Given the description of an element on the screen output the (x, y) to click on. 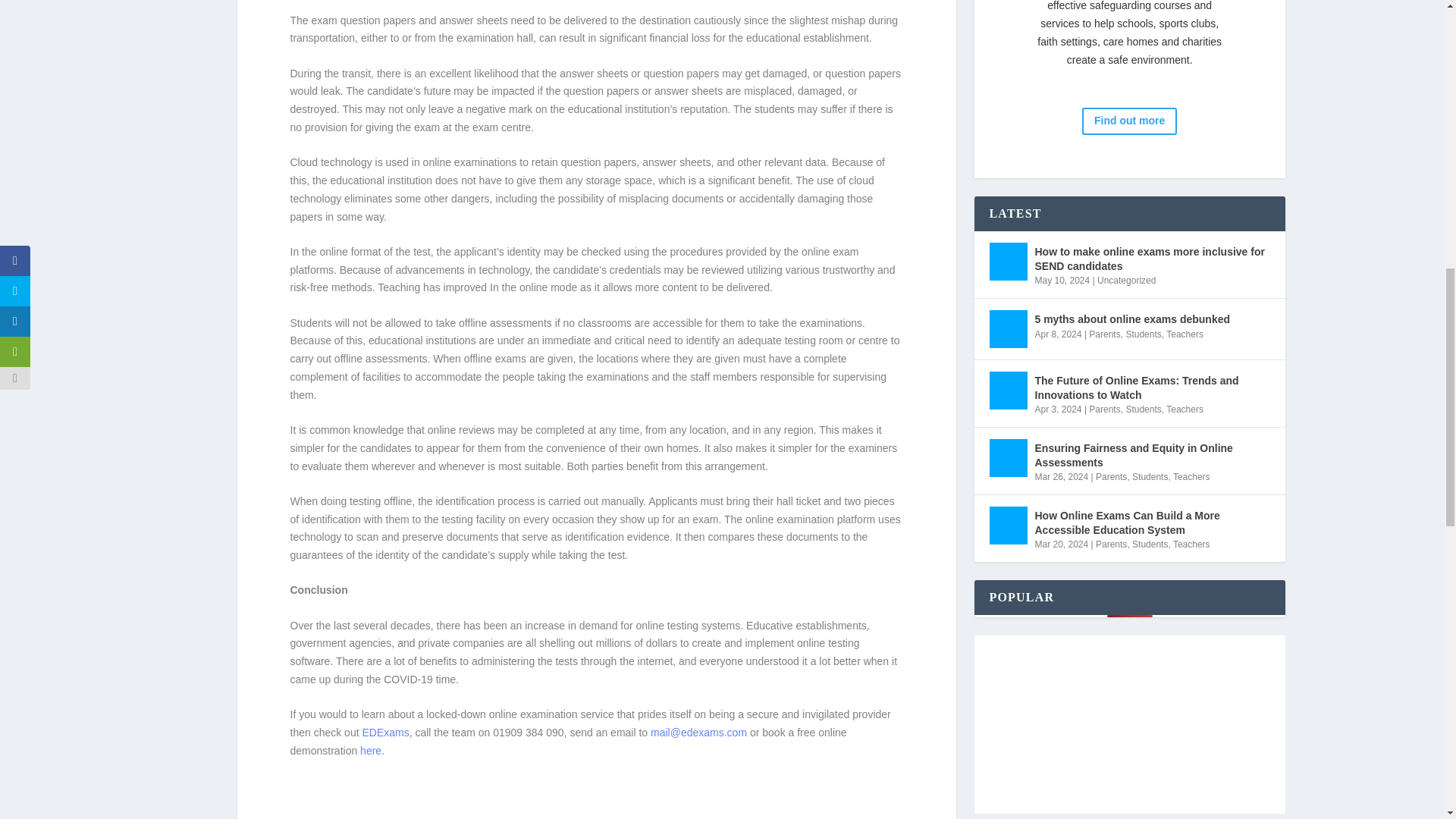
here (370, 750)
Parents (1104, 334)
How to make online exams more inclusive for SEND candidates (1007, 261)
Ensuring Fairness and Equity in Online Assessments (1007, 457)
Students (1142, 334)
5 myths about online exams debunked (1007, 329)
How to make online exams more inclusive for SEND candidates (1151, 258)
The Future of Online Exams: Trends and Innovations to Watch (1007, 390)
5 myths about online exams debunked (1131, 319)
Teachers (1185, 334)
EDExams (385, 732)
Uncategorized (1126, 280)
